Given the description of an element on the screen output the (x, y) to click on. 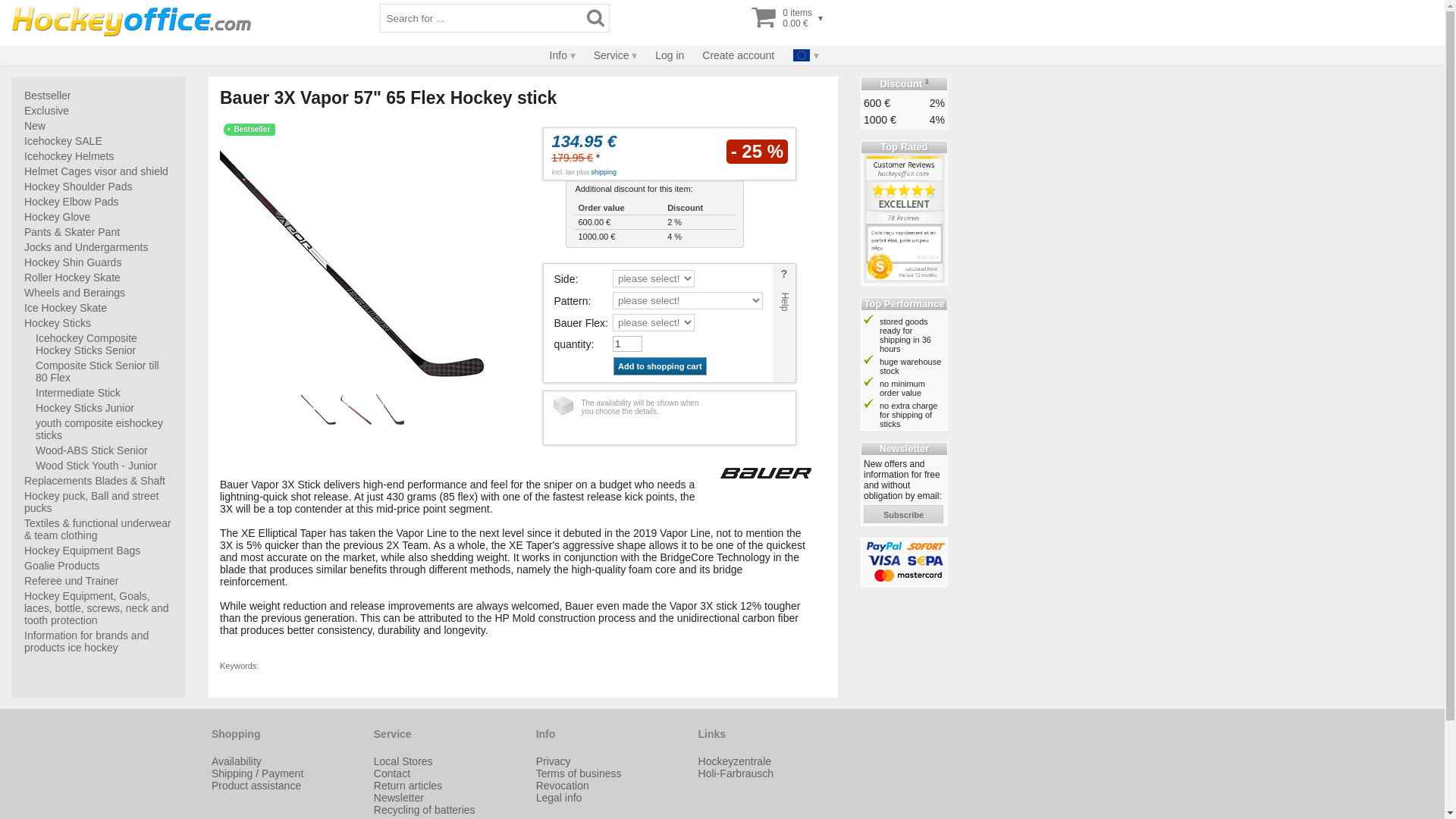
Show shopping cart (783, 17)
BAUER (765, 472)
Hockey Shop und Produkte (734, 761)
Add item to shopping cart (659, 366)
Holi Festival und Holi Tickets (736, 773)
Bauer 3X Vapor 57" 65 Flex Hockey stick (351, 263)
1 (627, 343)
